Given the description of an element on the screen output the (x, y) to click on. 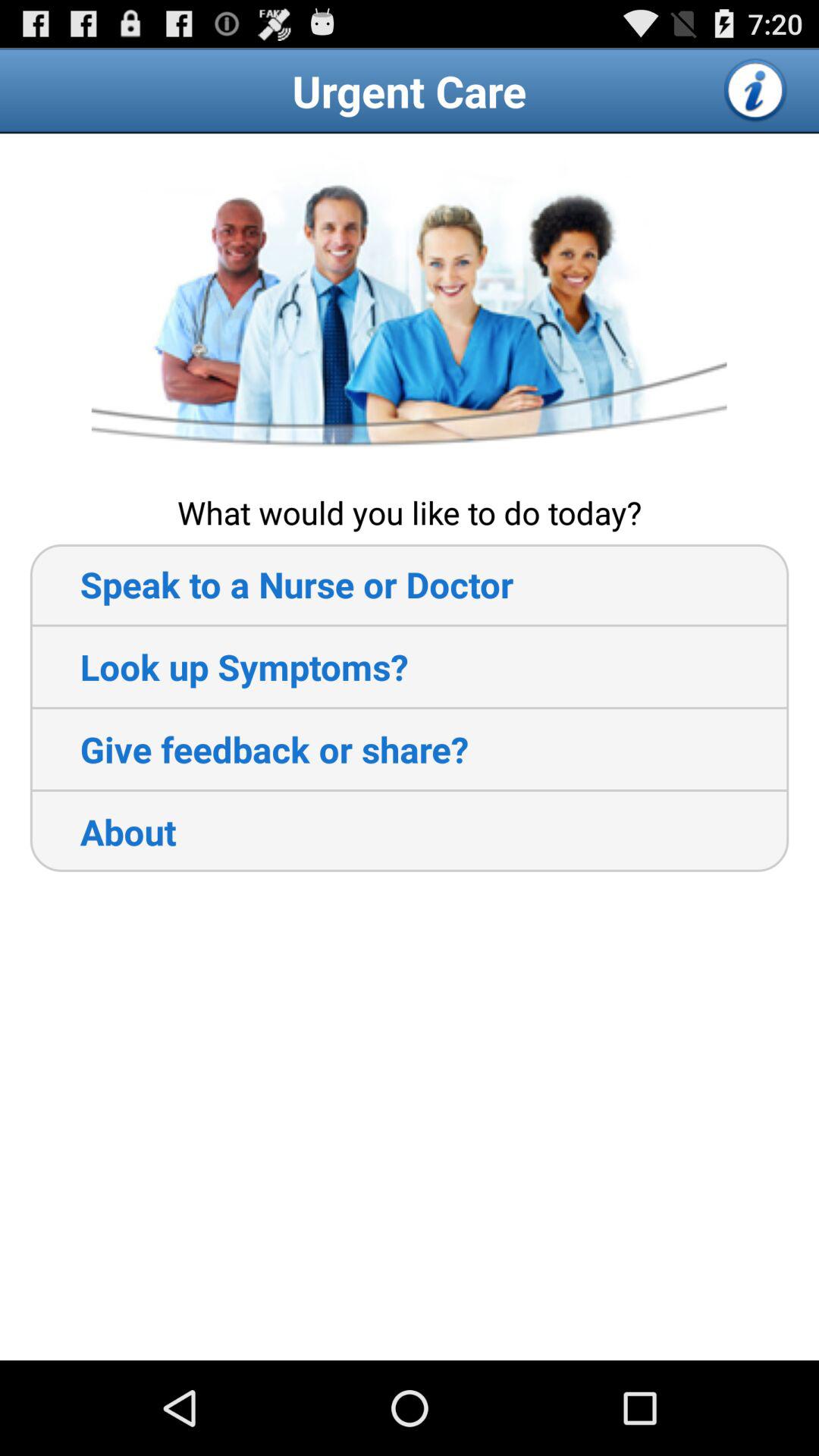
turn off give feedback or item (249, 749)
